Given the description of an element on the screen output the (x, y) to click on. 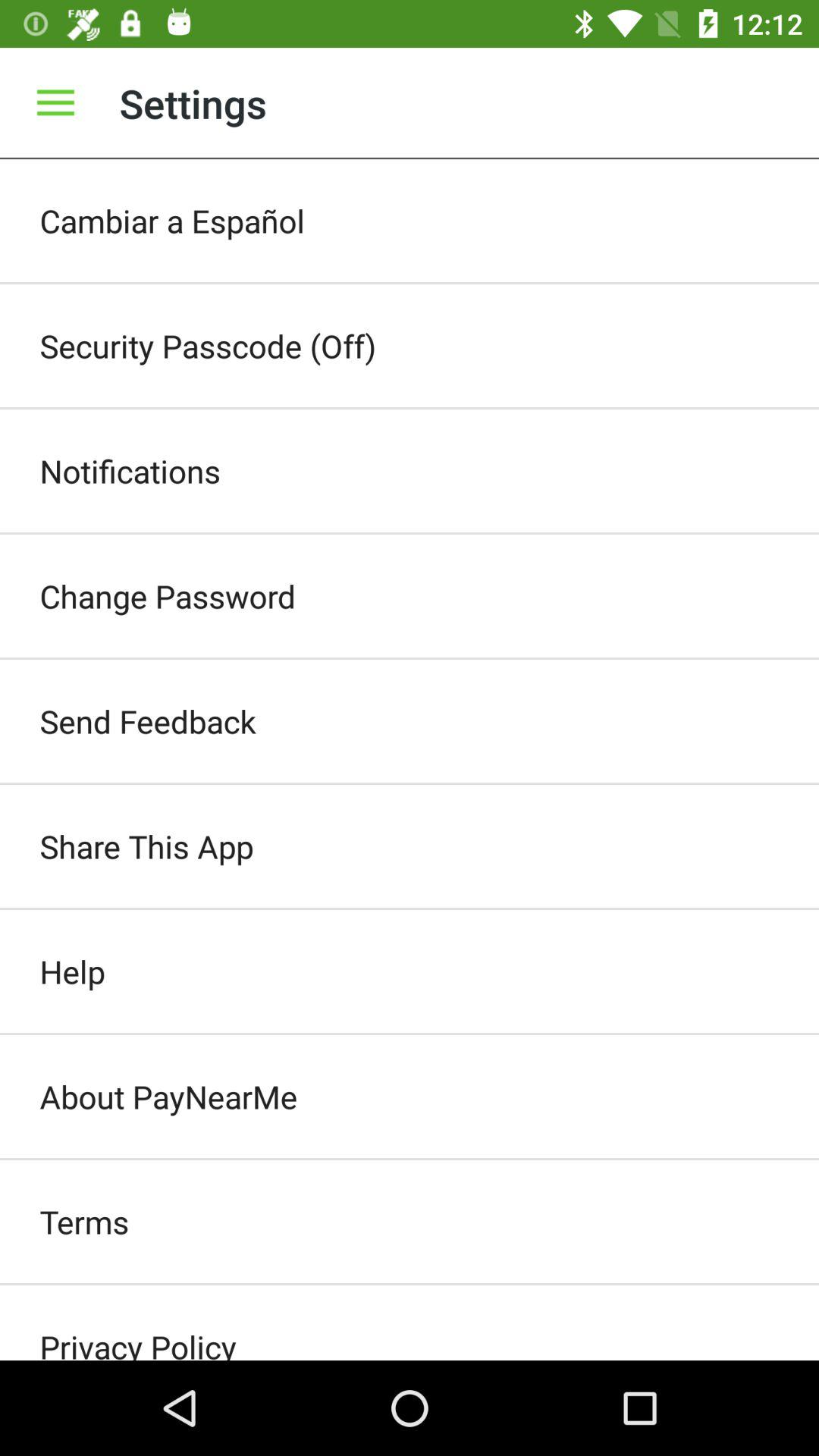
open the item below about paynearme (409, 1221)
